Given the description of an element on the screen output the (x, y) to click on. 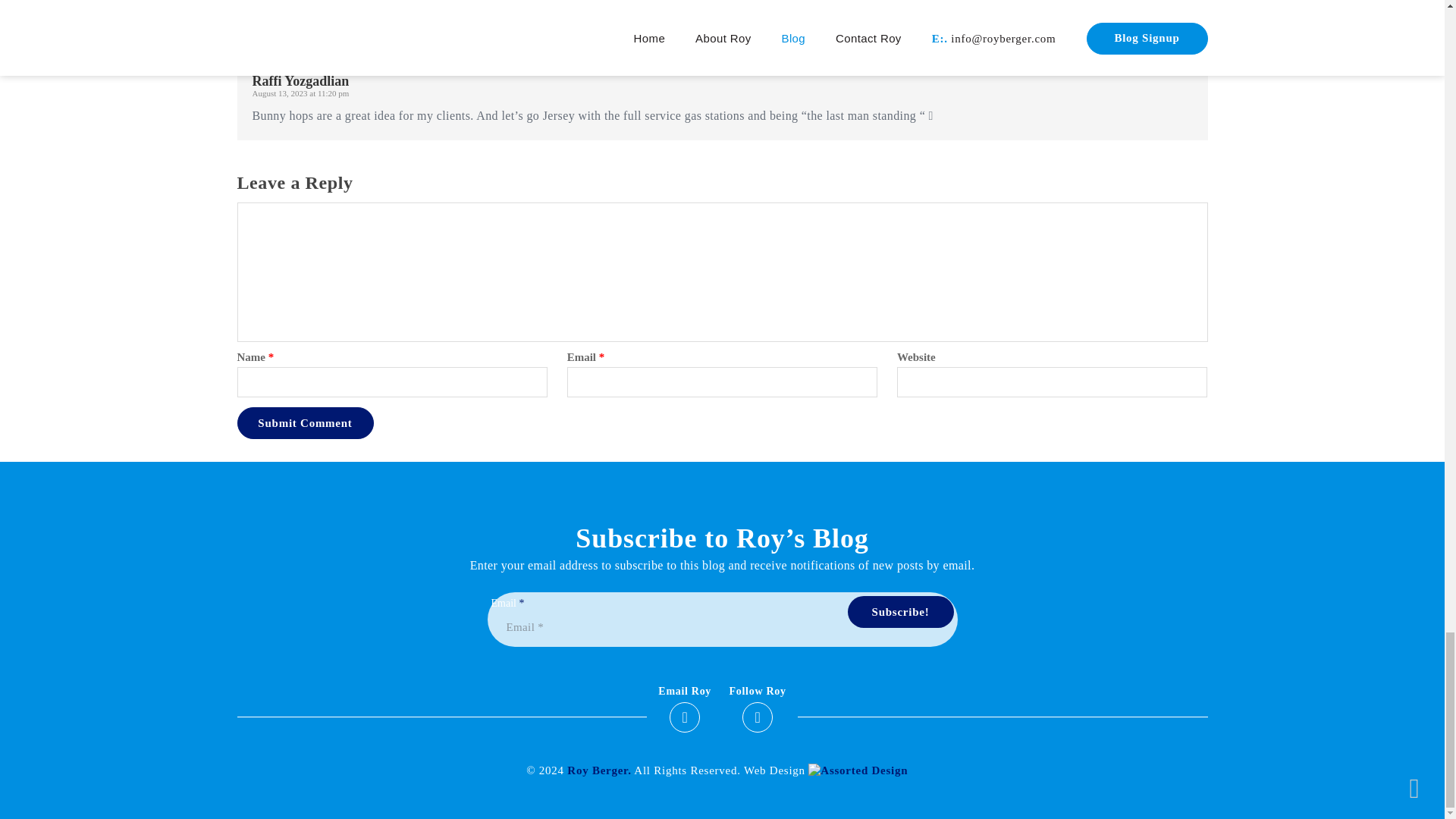
Subscribe! (900, 612)
Submit Comment (303, 422)
Email (722, 626)
Submit Comment (303, 422)
Subscribe! (900, 612)
Roy Berger. (598, 770)
August 13, 2023 at 11:20 pm (300, 92)
